Given the description of an element on the screen output the (x, y) to click on. 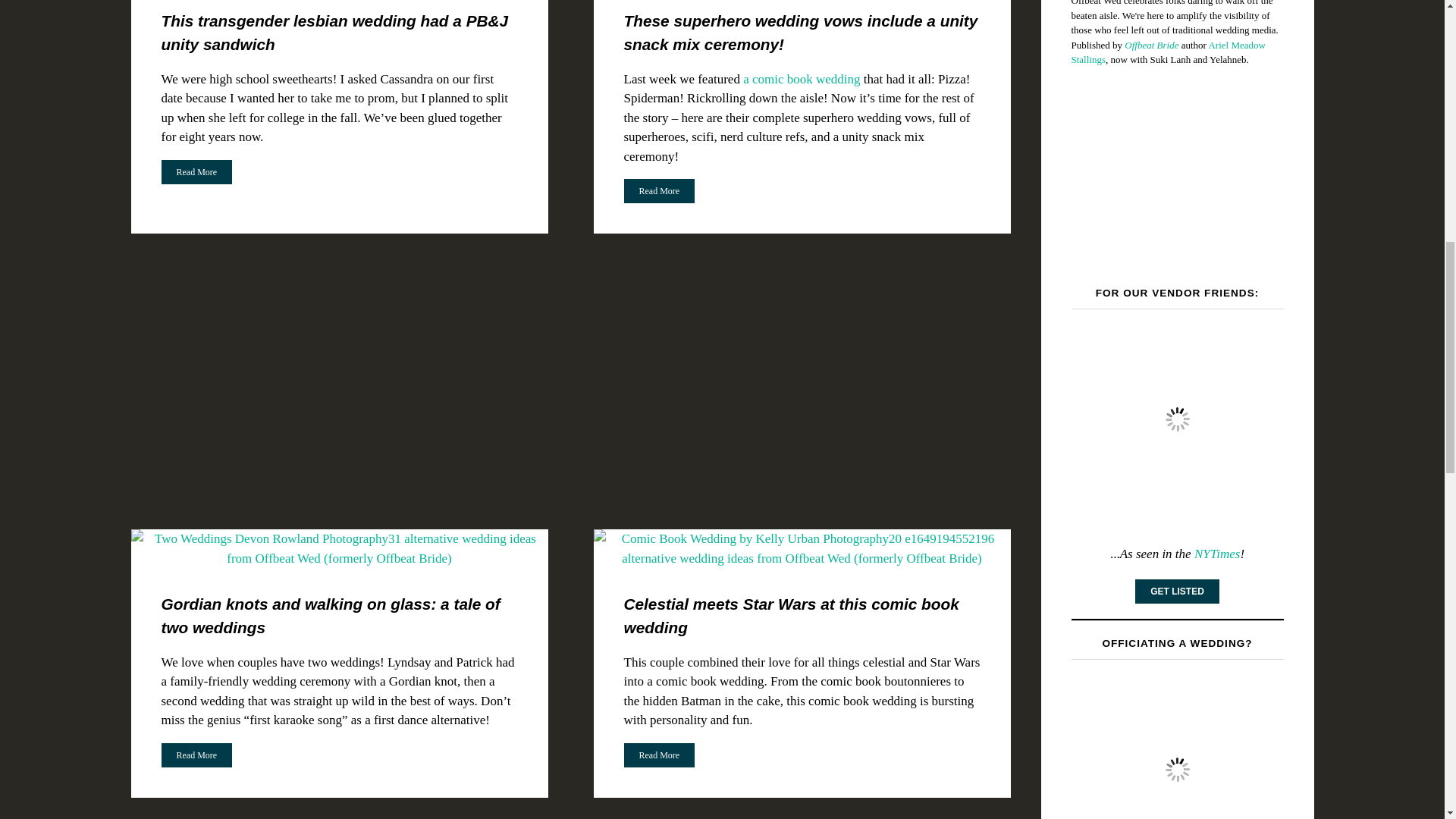
Read More (195, 170)
Read More (195, 171)
